Given the description of an element on the screen output the (x, y) to click on. 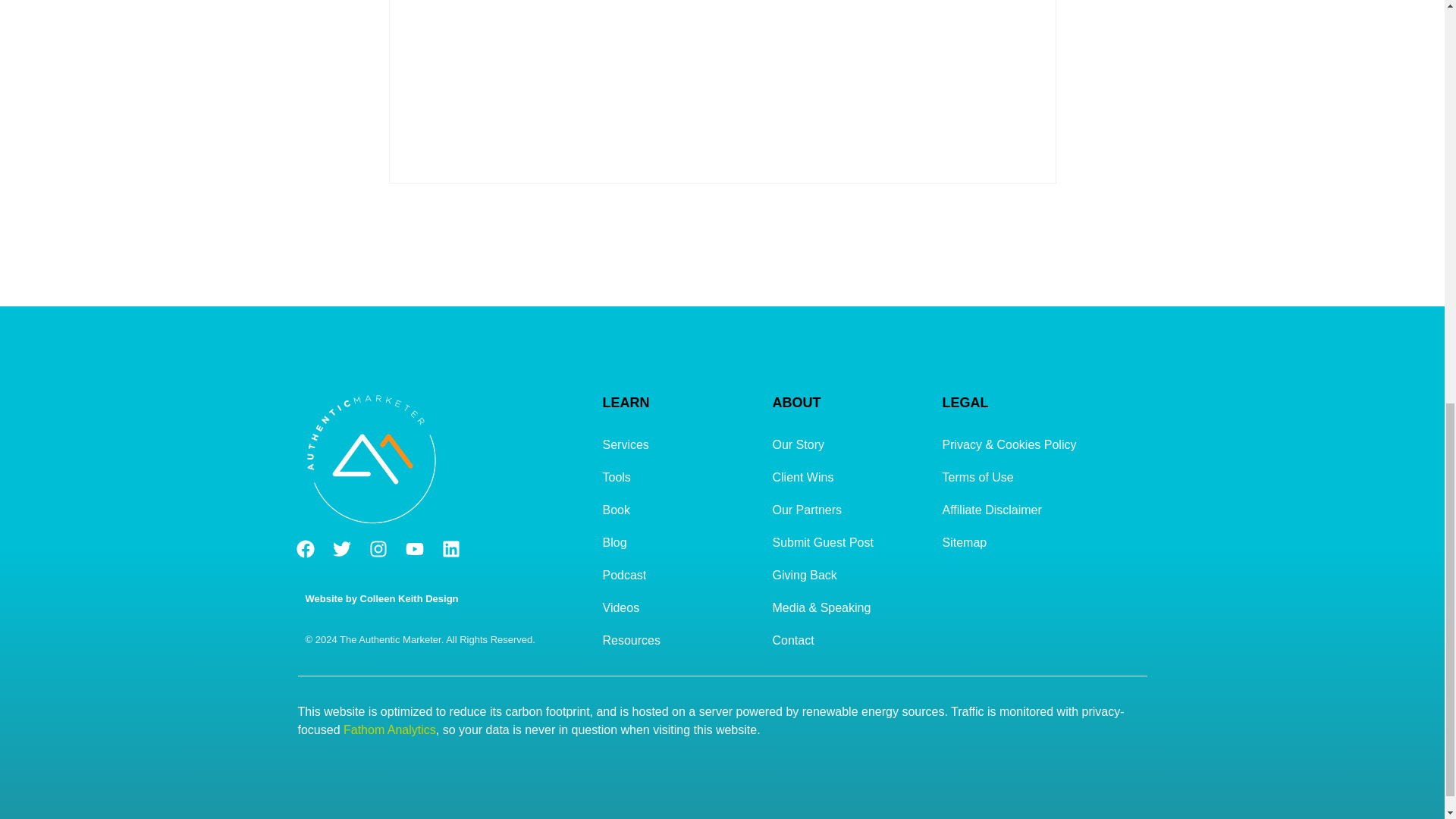
Podcast (679, 574)
Videos (679, 607)
Client Wins (848, 477)
Resources (679, 640)
Tools (679, 477)
Our Partners (848, 509)
Blog (679, 542)
Book (679, 509)
Website by Colleen Keith Design (381, 598)
Our Story (848, 444)
Services (679, 444)
